Given the description of an element on the screen output the (x, y) to click on. 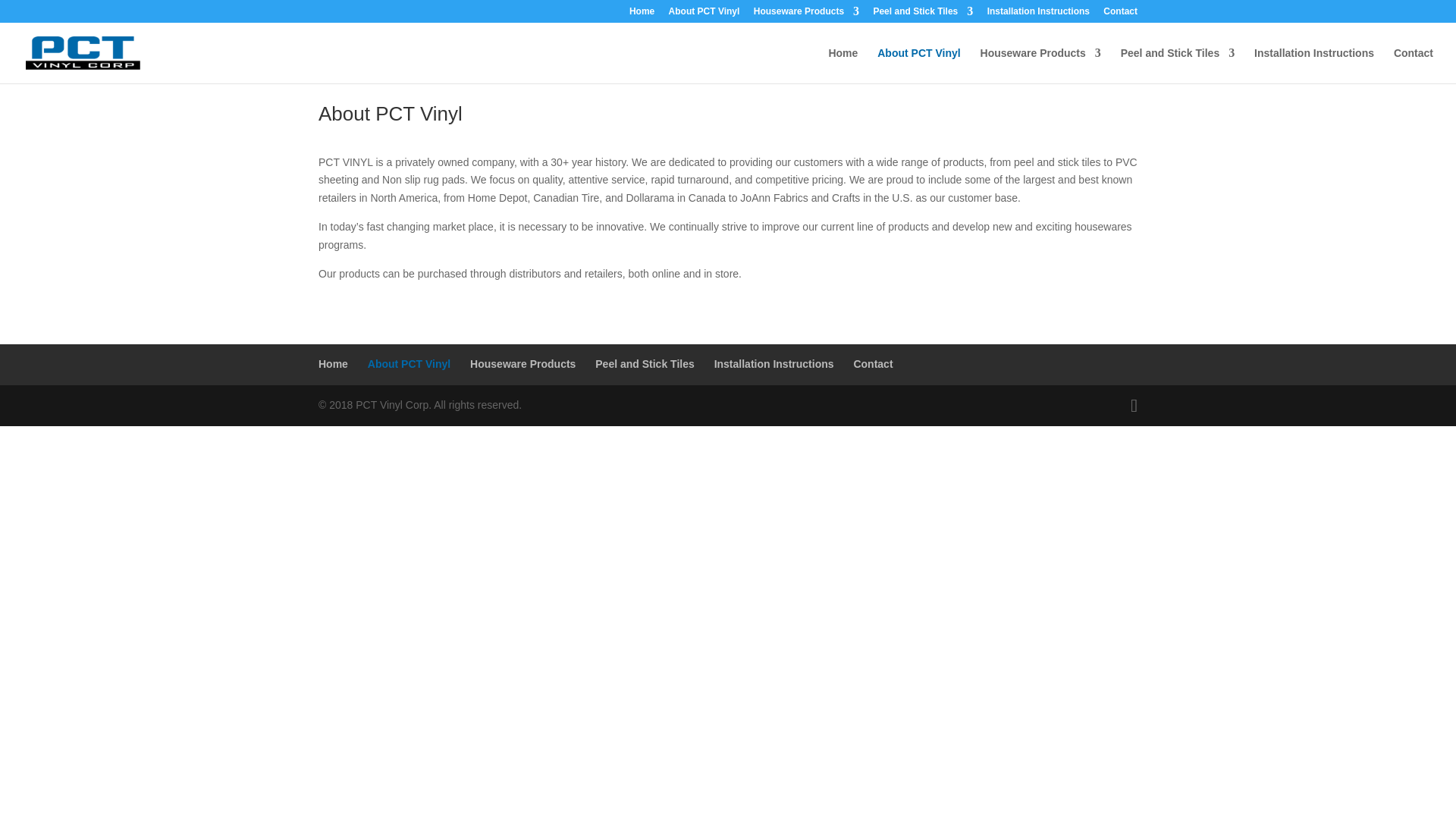
Houseware Products (806, 14)
Installation Instructions (1038, 14)
Peel and Stick Tiles (922, 14)
About PCT Vinyl (703, 14)
About PCT Vinyl (918, 65)
Contact (1412, 65)
Peel and Stick Tiles (1177, 65)
Home (640, 14)
Contact (1120, 14)
Installation Instructions (1313, 65)
